Given the description of an element on the screen output the (x, y) to click on. 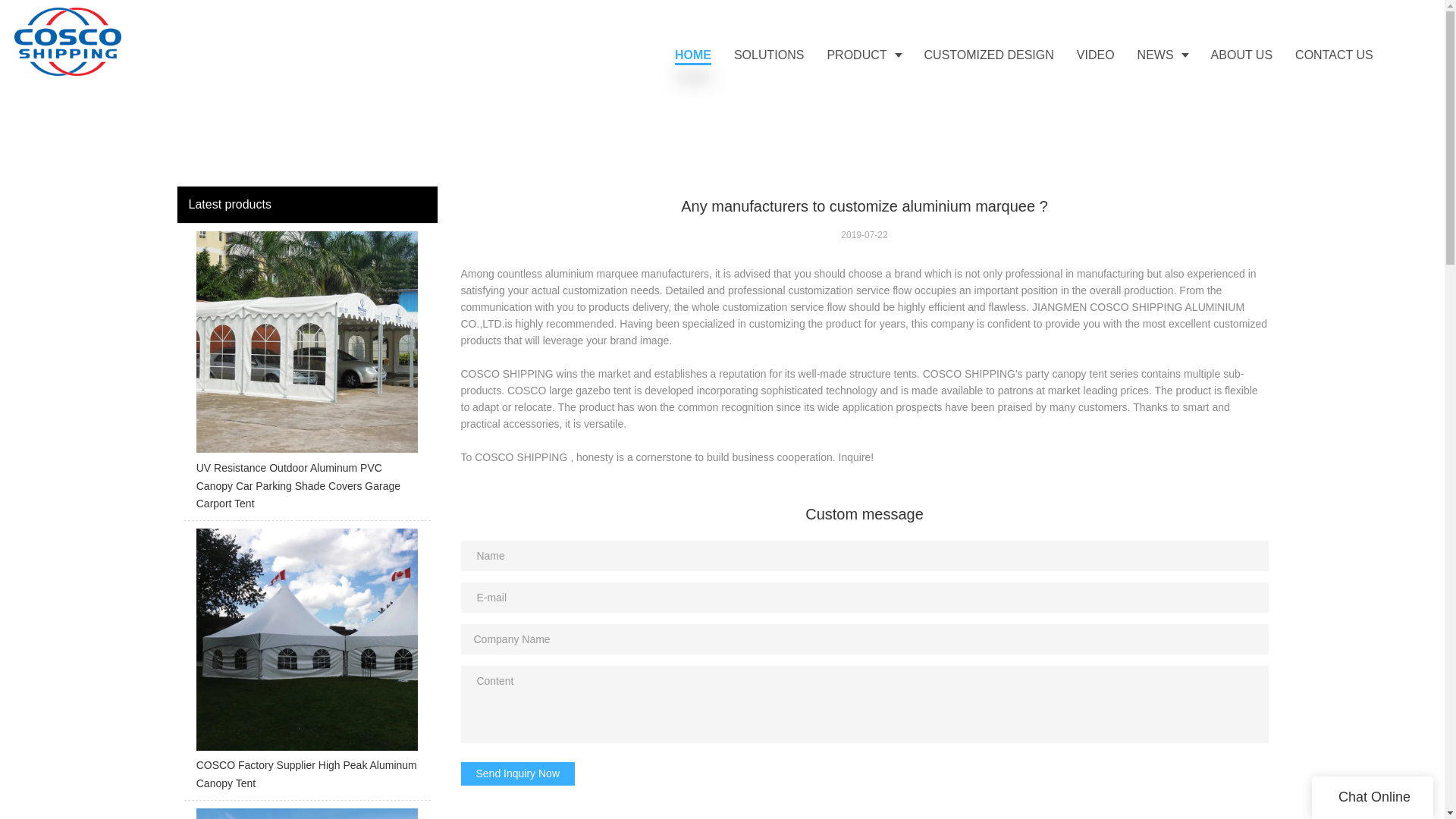
PRODUCT (863, 55)
NEWS (1162, 55)
ABOUT US (1241, 55)
CONTACT US (1334, 55)
Send Inquiry Now (518, 773)
CUSTOMIZED DESIGN (988, 55)
VIDEO (1095, 55)
COSCO Factory Supplier High Peak Aluminum Canopy Tent (306, 664)
SOLUTIONS (768, 55)
HOME (692, 55)
